Given the description of an element on the screen output the (x, y) to click on. 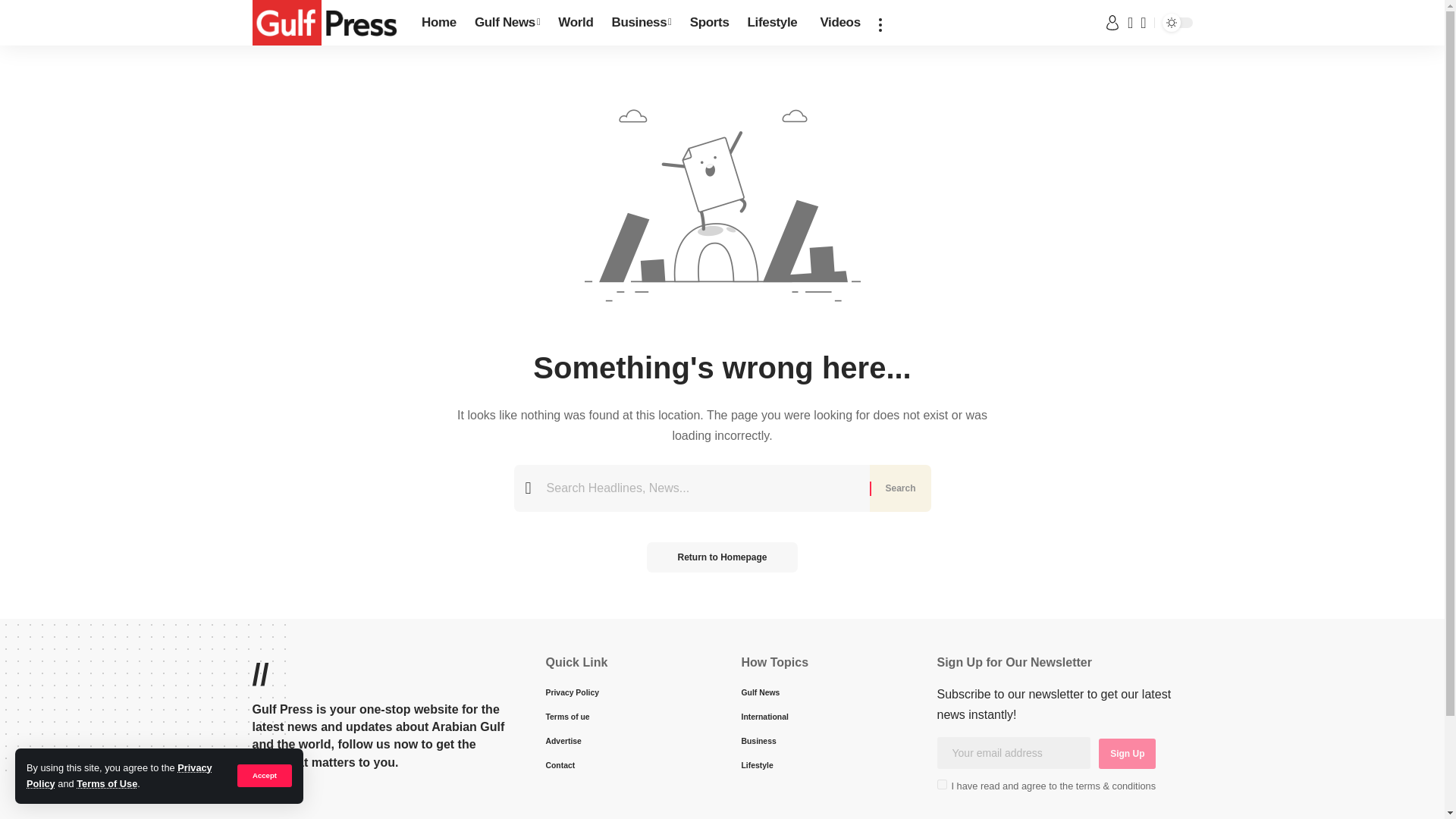
Home (438, 22)
World (575, 22)
Sign Up (1127, 753)
Privacy Policy (119, 775)
Sports (709, 22)
Videos (837, 22)
1 (942, 784)
Search (899, 488)
Search (899, 488)
Terms of Use (106, 783)
